Given the description of an element on the screen output the (x, y) to click on. 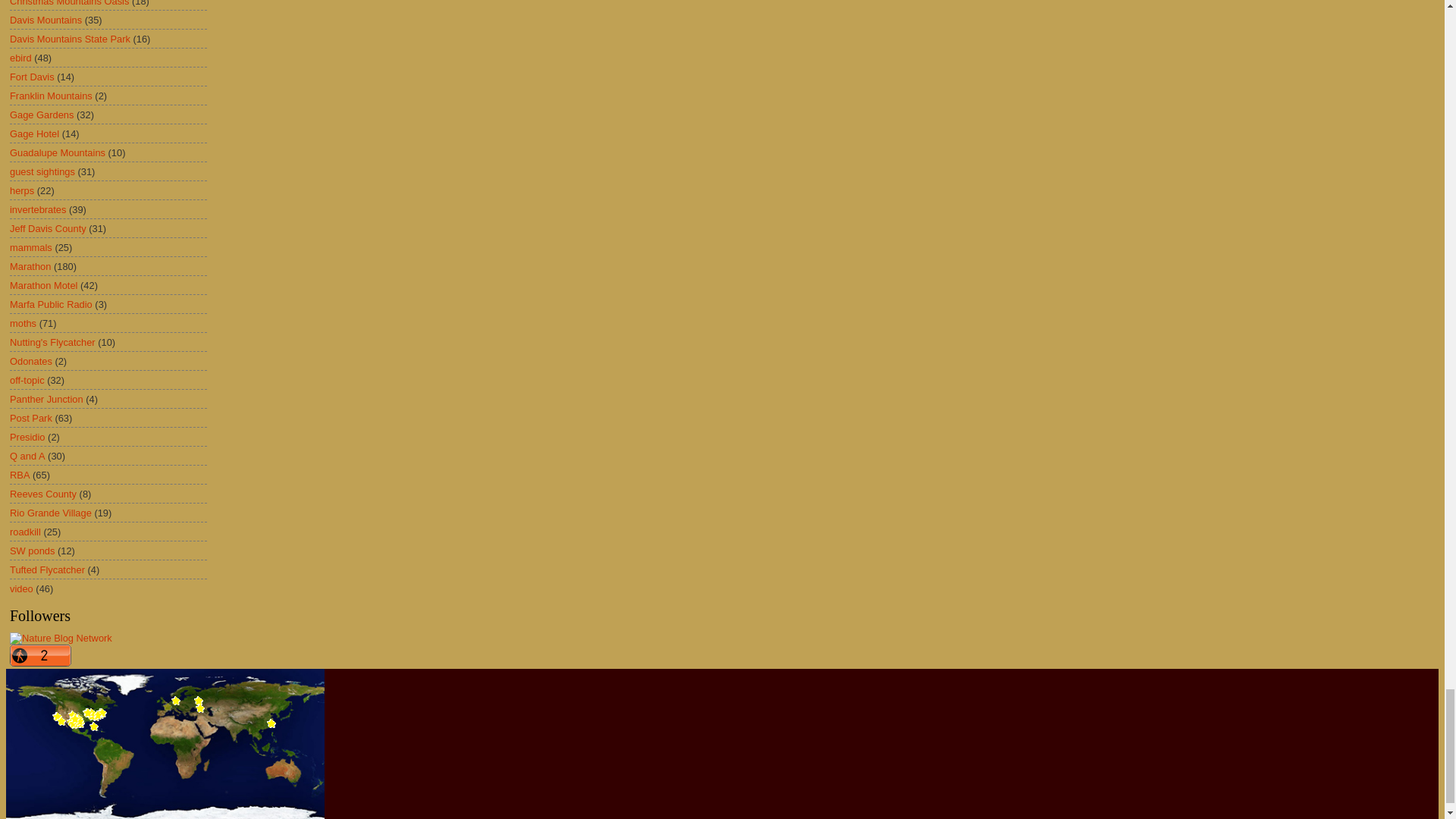
Click to see what's popular on this site! (40, 655)
